Given the description of an element on the screen output the (x, y) to click on. 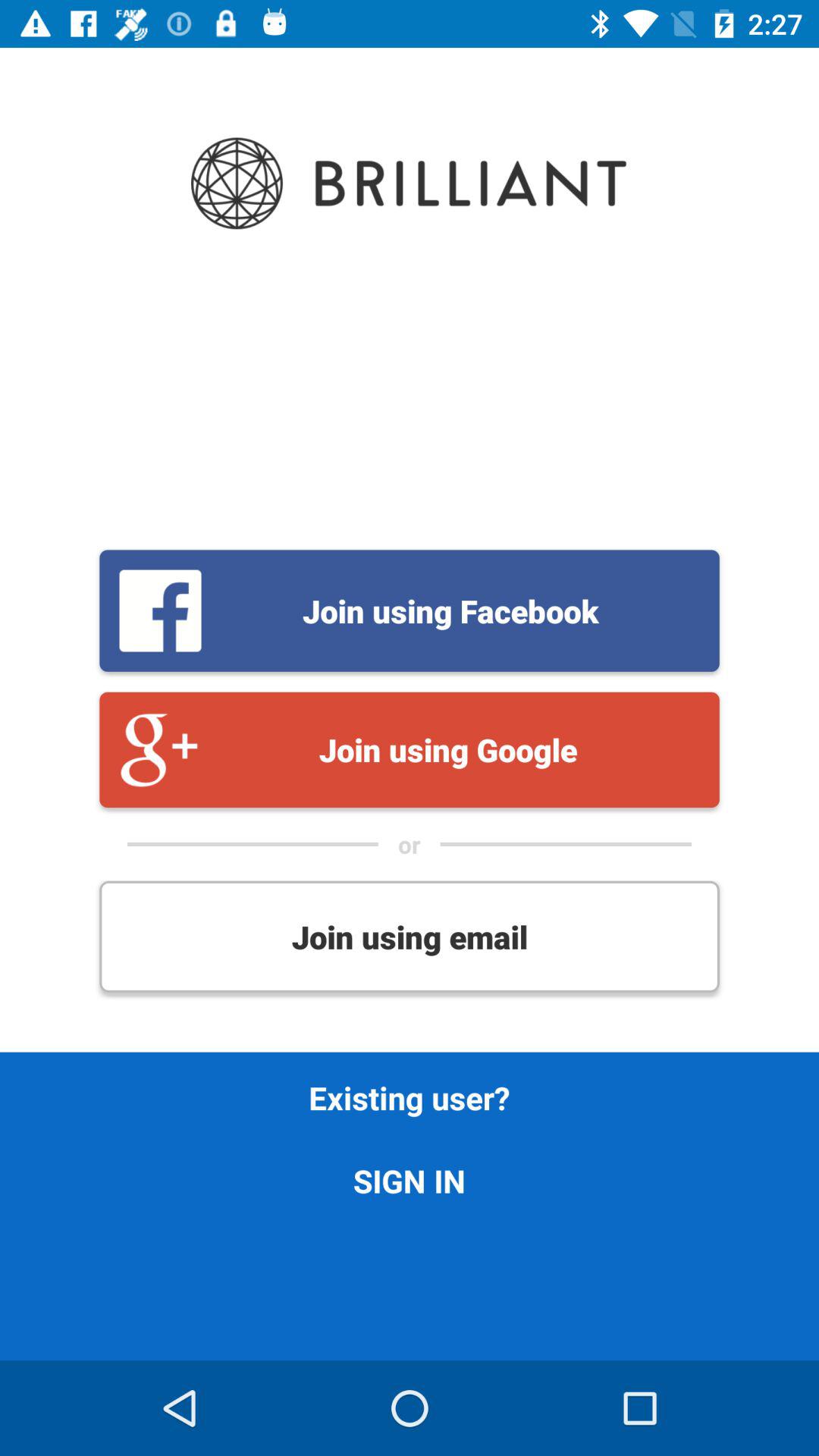
turn off sign in item (409, 1180)
